Given the description of an element on the screen output the (x, y) to click on. 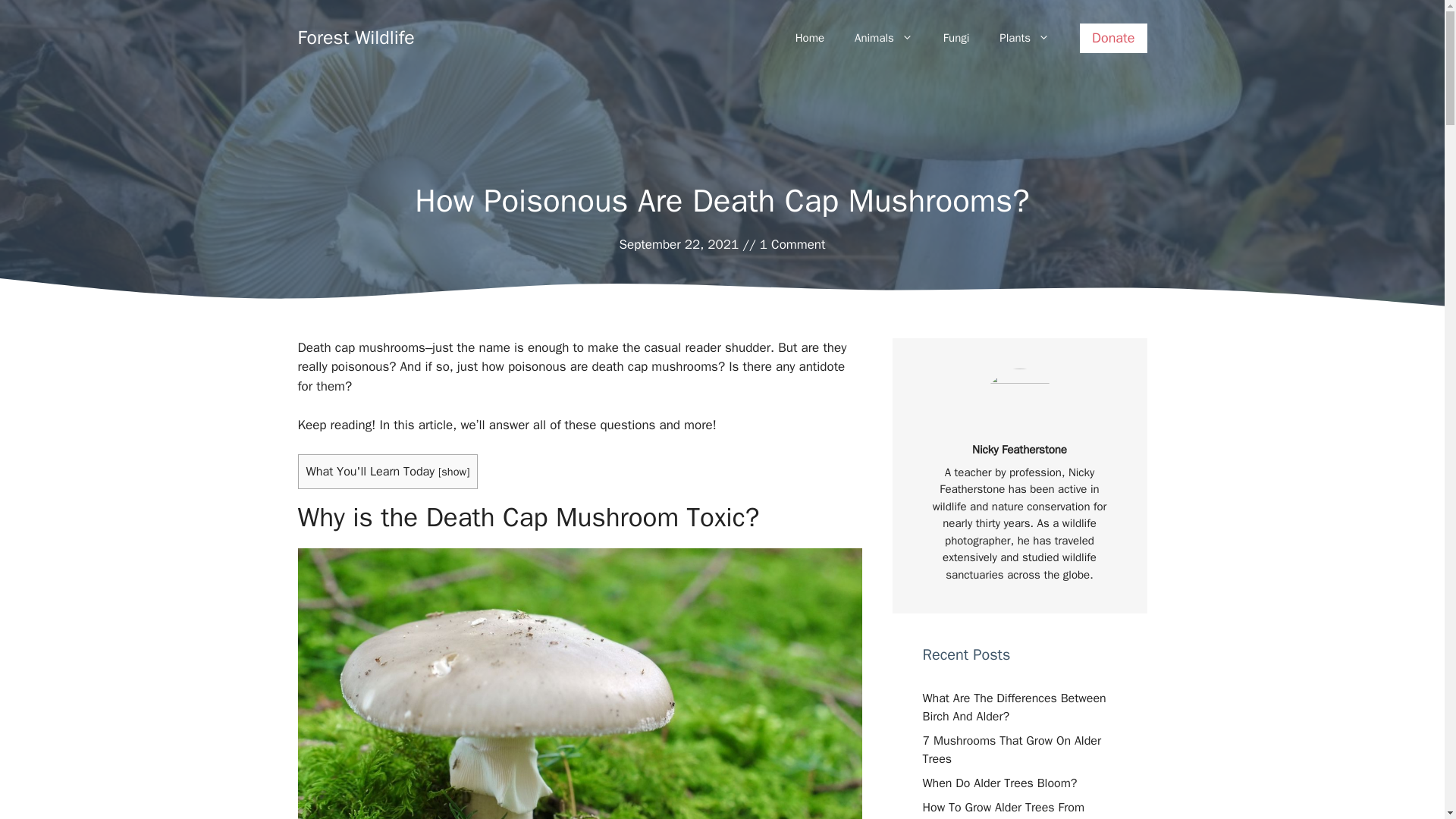
Donate (1113, 37)
Fungi (956, 37)
Forest Fungi (956, 37)
Forest Animals (884, 37)
show (453, 471)
Animals (884, 37)
Home (810, 37)
1 Comment (792, 244)
Plants (1024, 37)
Forest Plants (1024, 37)
